Given the description of an element on the screen output the (x, y) to click on. 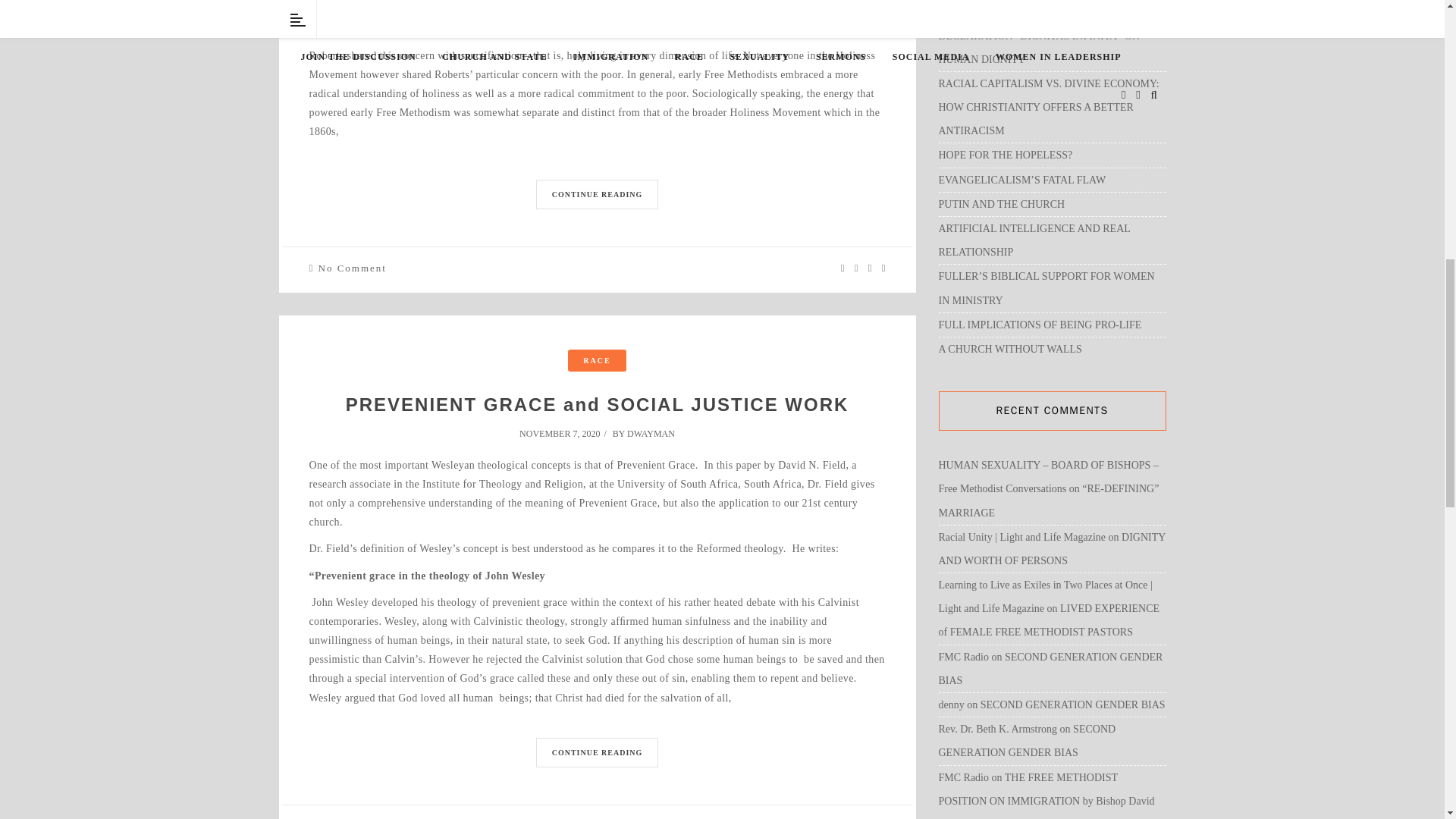
CONTINUE READING (597, 194)
RACE (596, 360)
No Comment (352, 267)
DWAYMAN (651, 433)
NOVEMBER 7, 2020 (564, 433)
PREVENIENT GRACE and SOCIAL JUSTICE WORK (597, 403)
